Given the description of an element on the screen output the (x, y) to click on. 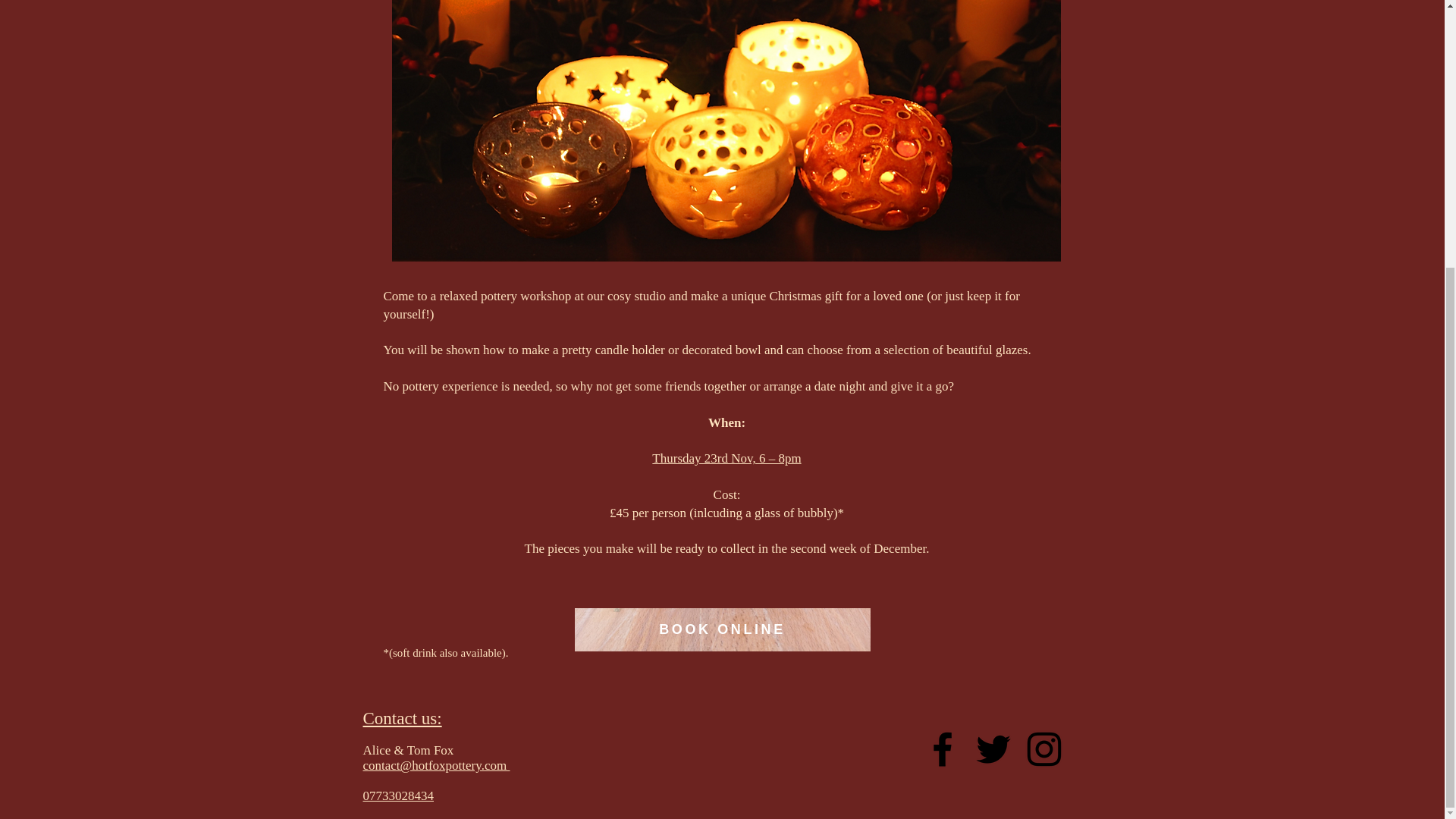
07733028434 (397, 795)
BOOK ONLINE (722, 629)
Contact us: (401, 718)
